Given the description of an element on the screen output the (x, y) to click on. 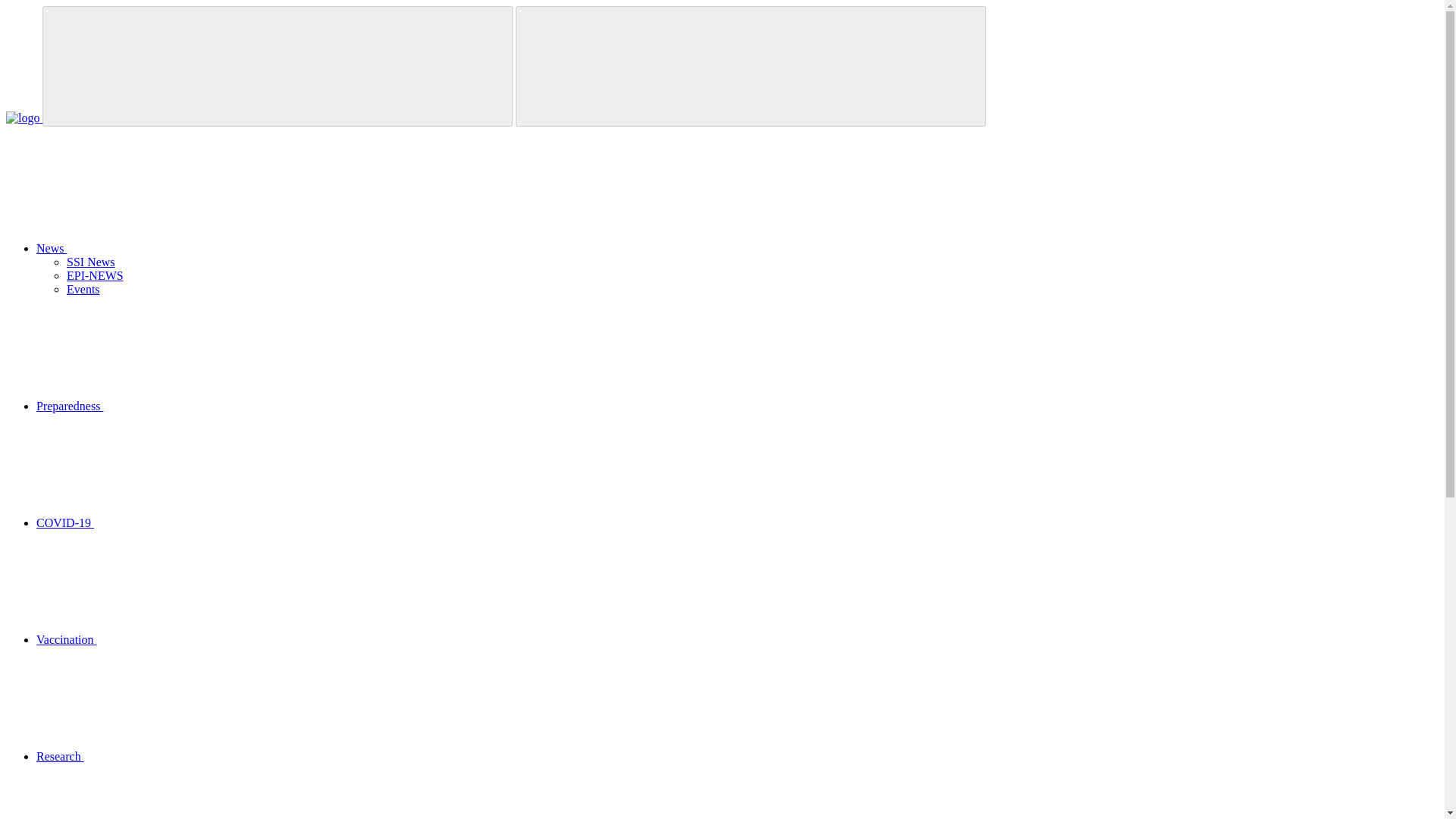
News (165, 247)
Research (173, 756)
Preparedness (183, 405)
COVID-19 (178, 522)
SSI News (90, 261)
Vaccination (180, 639)
Events (83, 288)
EPI-NEWS (94, 275)
